Given the description of an element on the screen output the (x, y) to click on. 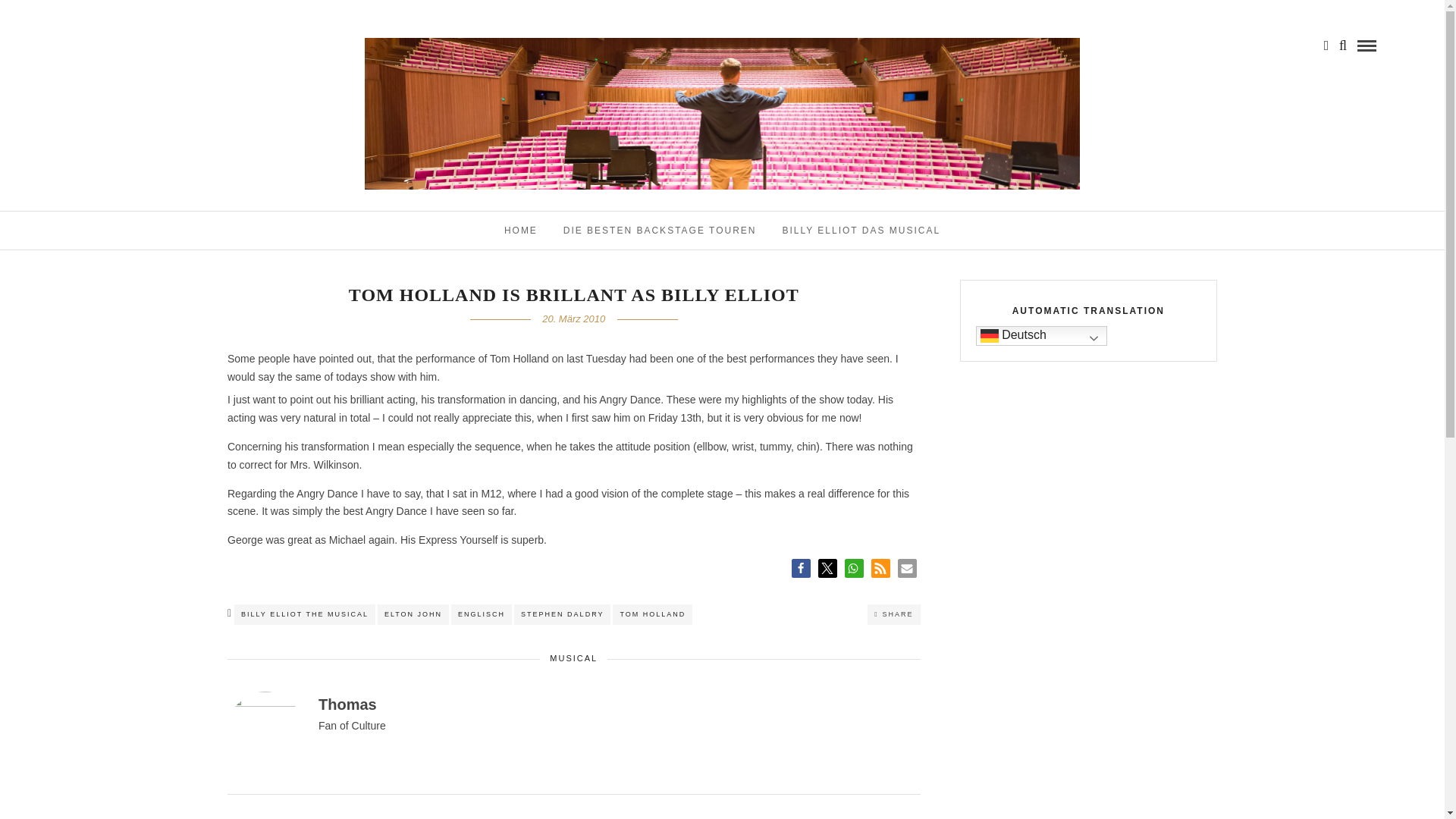
BILLY ELLIOT DAS MUSICAL (861, 230)
MUSICAL (573, 657)
ELTON JOHN (412, 614)
Per E-Mail versenden (907, 568)
Bei Whatsapp teilen (853, 568)
TOM HOLLAND (652, 614)
ENGLISCH (481, 614)
DIE BESTEN BACKSTAGE TOUREN (659, 230)
Deutsch (1040, 335)
Bei X teilen (825, 568)
STEPHEN DALDRY (561, 614)
BILLY ELLIOT THE MUSICAL (304, 614)
Bei Facebook teilen (801, 568)
HOME (520, 230)
RSS-feed (879, 568)
